Given the description of an element on the screen output the (x, y) to click on. 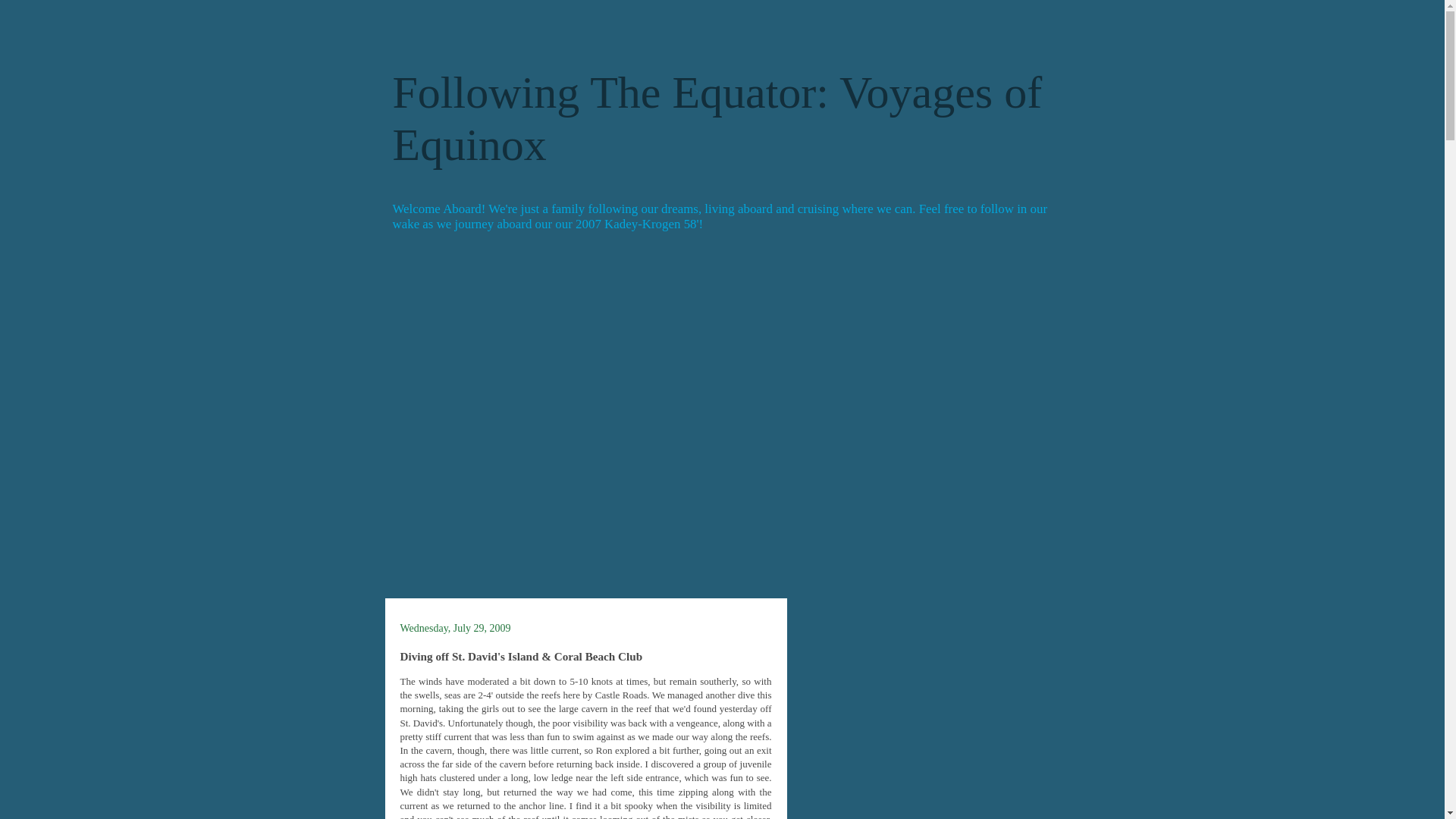
Following The Equator: Voyages of Equinox (717, 118)
